Given the description of an element on the screen output the (x, y) to click on. 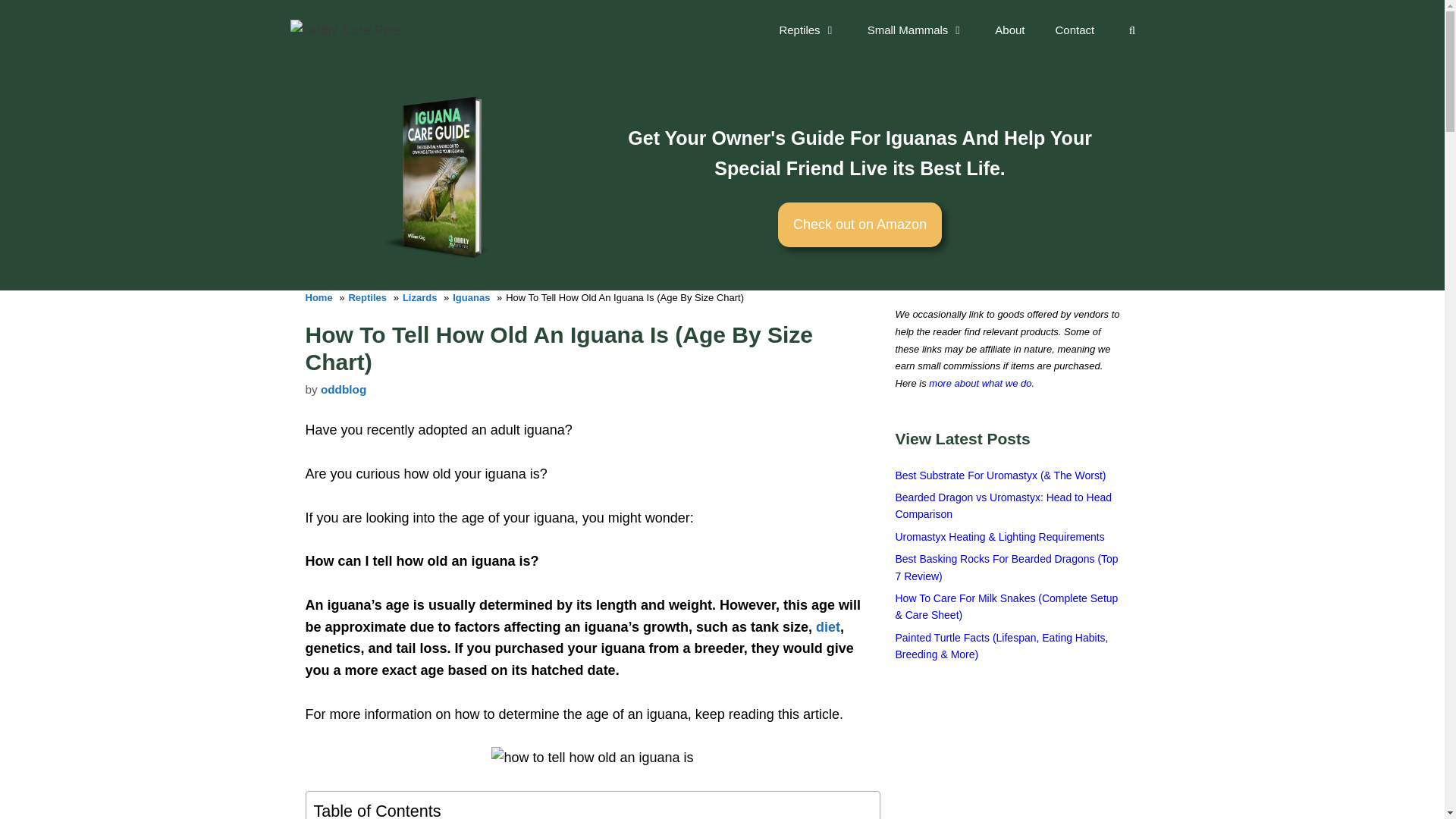
Small Mammals (915, 30)
View all posts by oddblog (343, 389)
Reptiles (806, 30)
About (1009, 30)
